Given the description of an element on the screen output the (x, y) to click on. 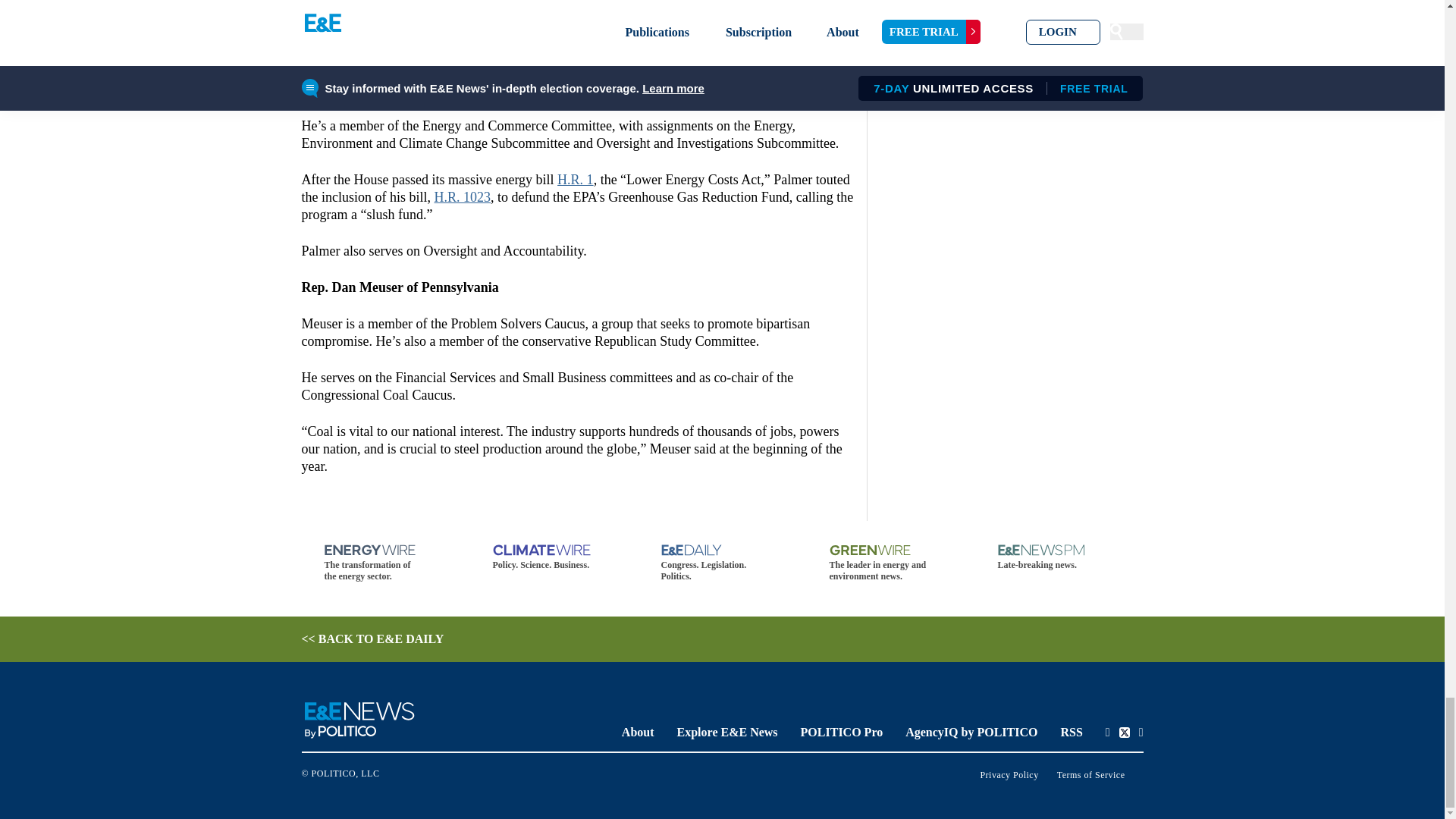
Congress. Legislation. Politics. (722, 562)
Late-breaking news. (1058, 556)
H.R. 1023 (461, 196)
Policy. Science. Business. (554, 556)
H.R. 1 (575, 179)
The transformation of the energy sector. (385, 562)
The leader in energy and environment news. (890, 562)
